Given the description of an element on the screen output the (x, y) to click on. 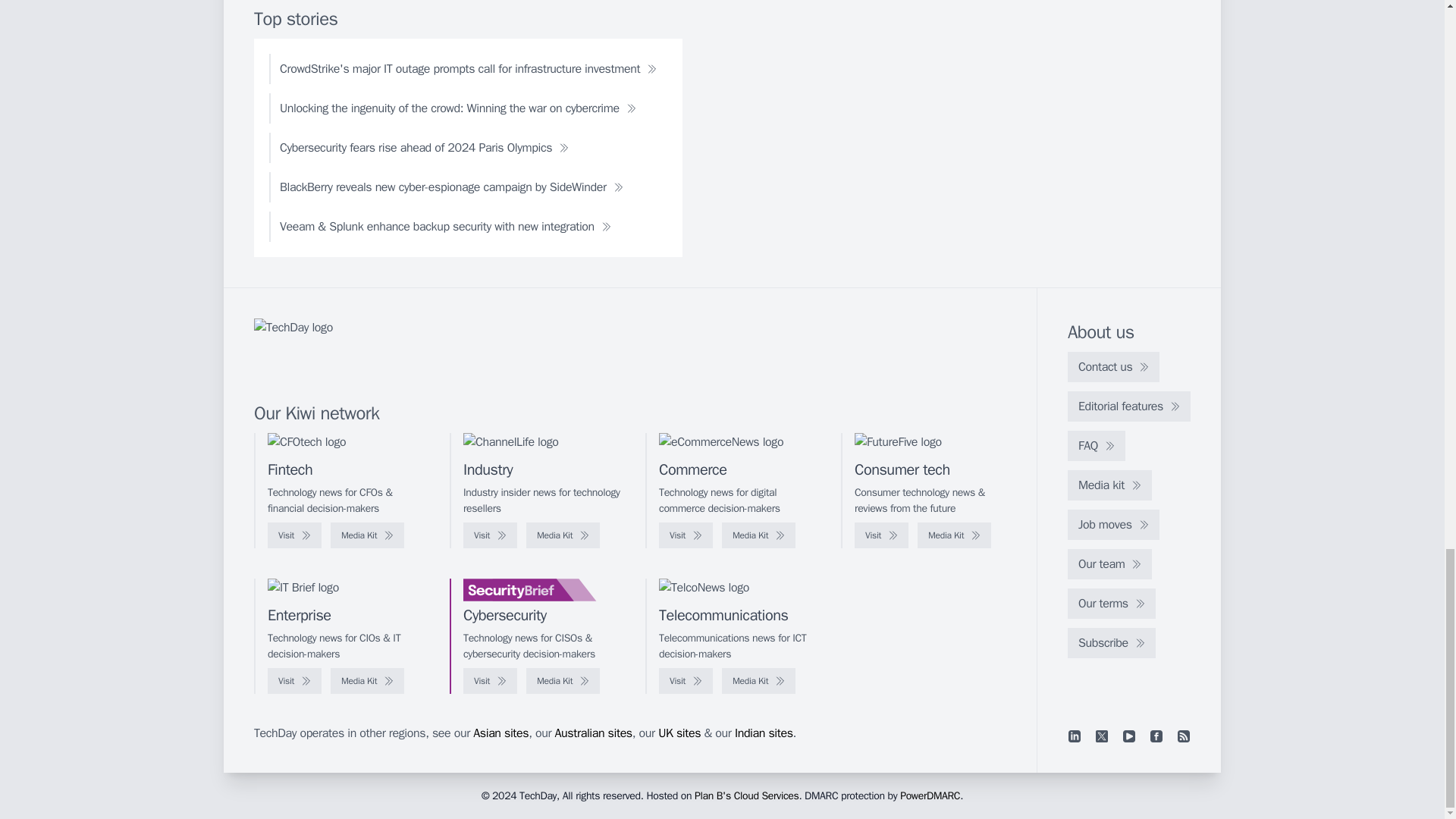
Media Kit (758, 534)
Media Kit (367, 534)
Visit (881, 534)
Cybersecurity fears rise ahead of 2024 Paris Olympics (424, 147)
Media Kit (562, 534)
Media Kit (954, 534)
Visit (686, 534)
Visit (489, 534)
Visit (294, 534)
